Given the description of an element on the screen output the (x, y) to click on. 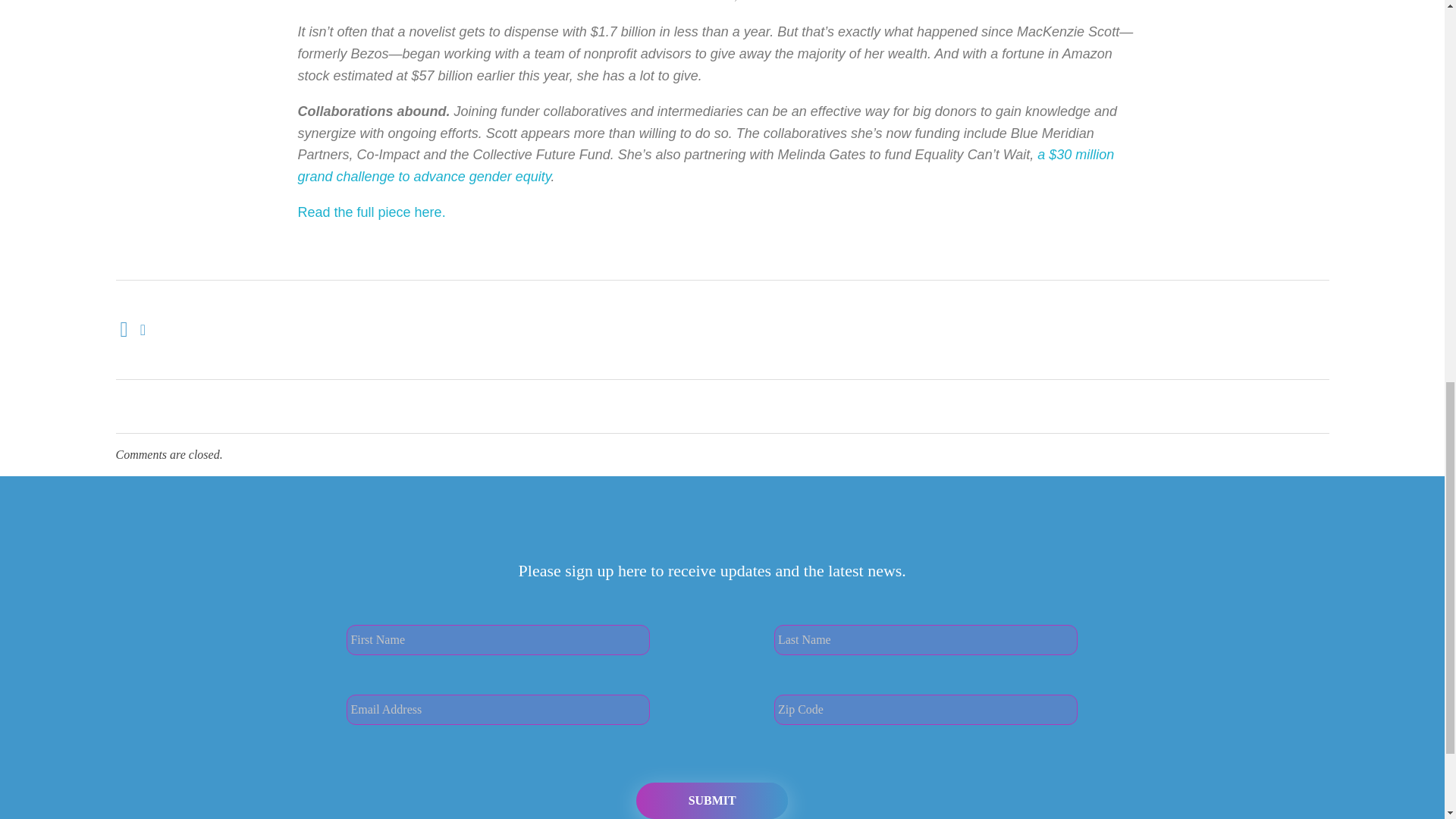
Read the full piece here. (371, 94)
Submit (711, 683)
Submit (711, 683)
